Given the description of an element on the screen output the (x, y) to click on. 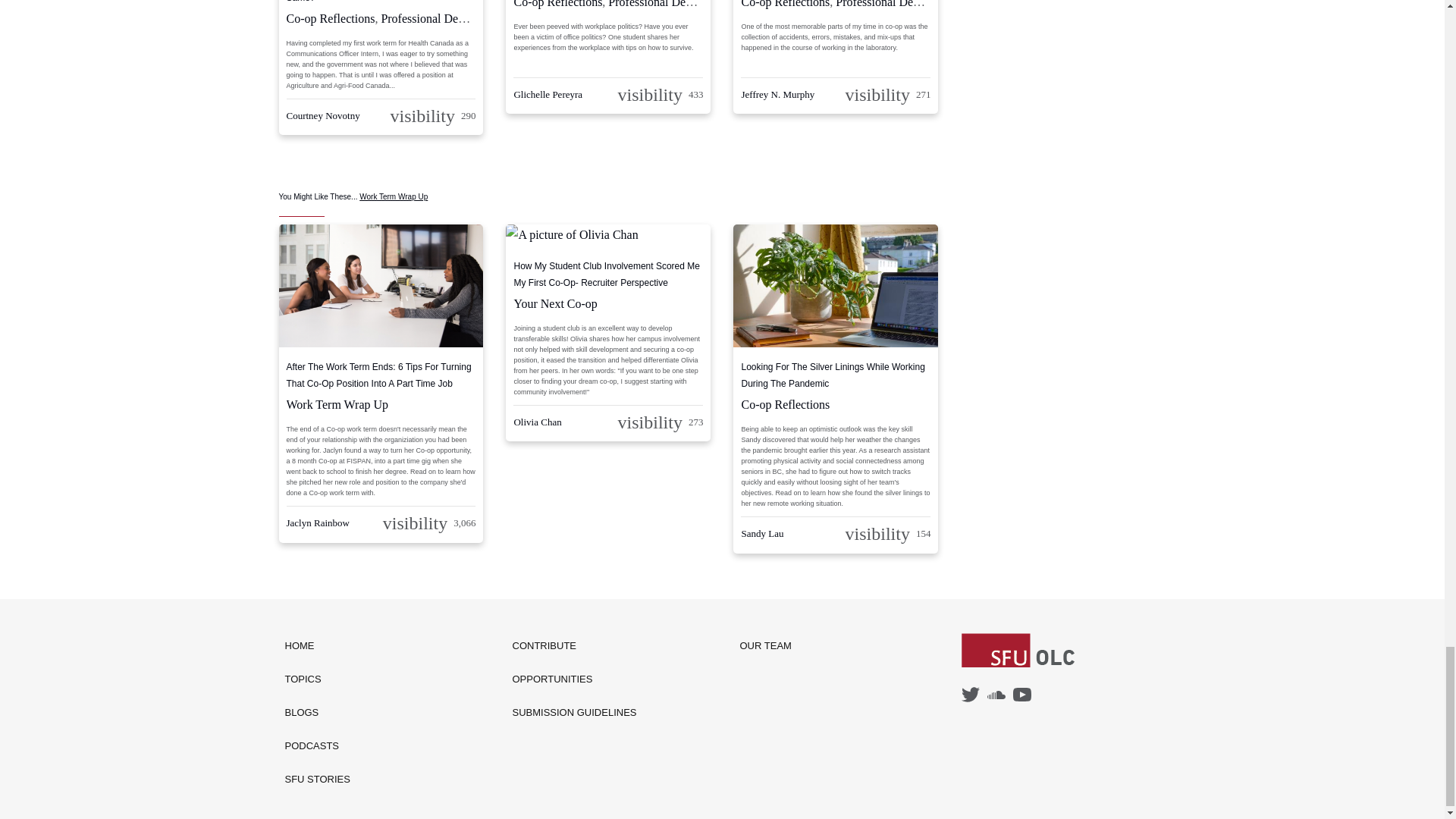
OLC Blogs (317, 712)
Contribute to the OLC (574, 645)
